Given the description of an element on the screen output the (x, y) to click on. 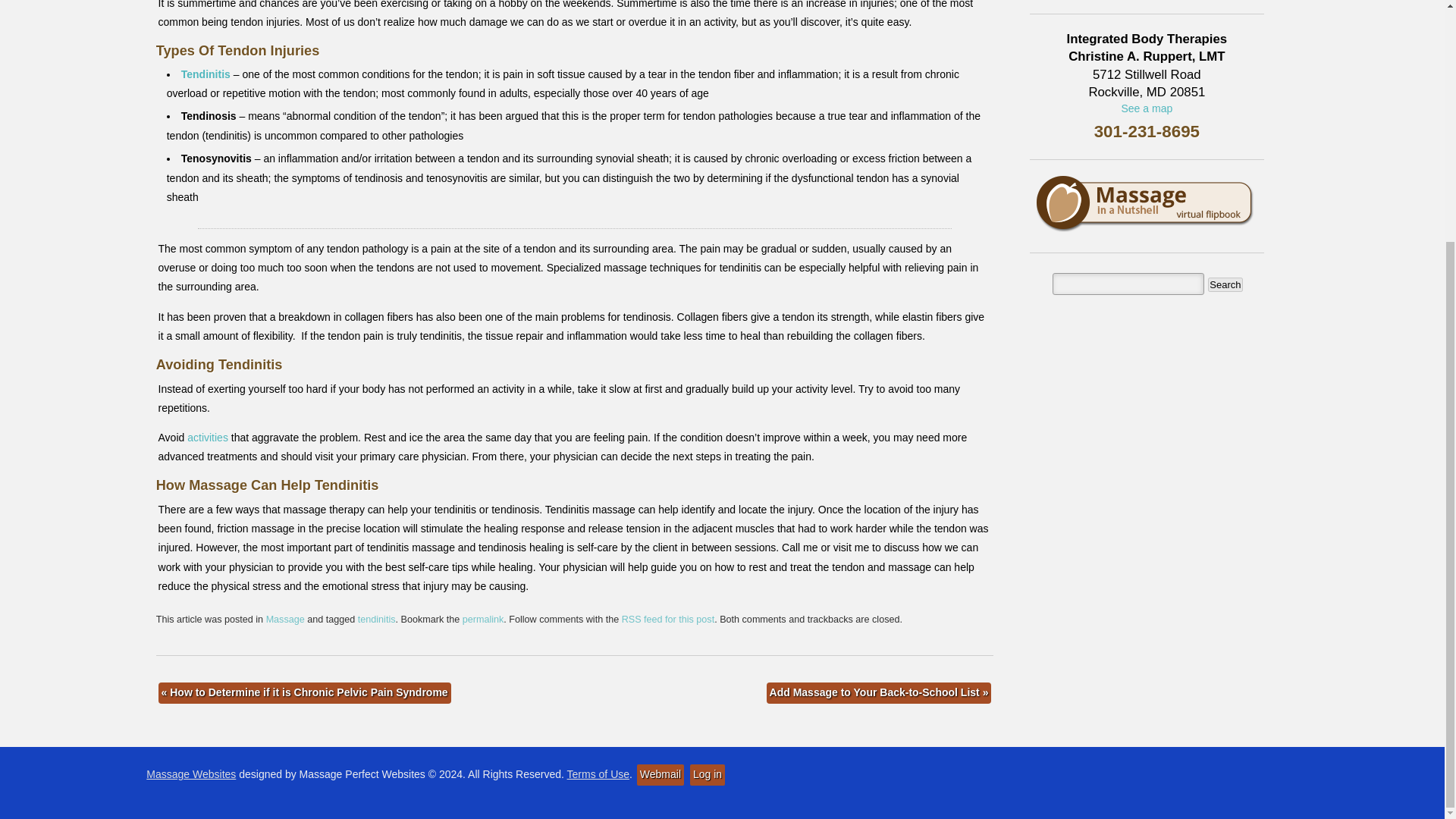
Search (1224, 284)
Massage (285, 619)
Massage Websites (191, 774)
Search (1224, 284)
See a map (1146, 108)
Tendinitis (205, 73)
permalink (483, 619)
activities (207, 437)
RSS feed for this post (667, 619)
Massage Websites (191, 774)
tendinitis (377, 619)
